Given the description of an element on the screen output the (x, y) to click on. 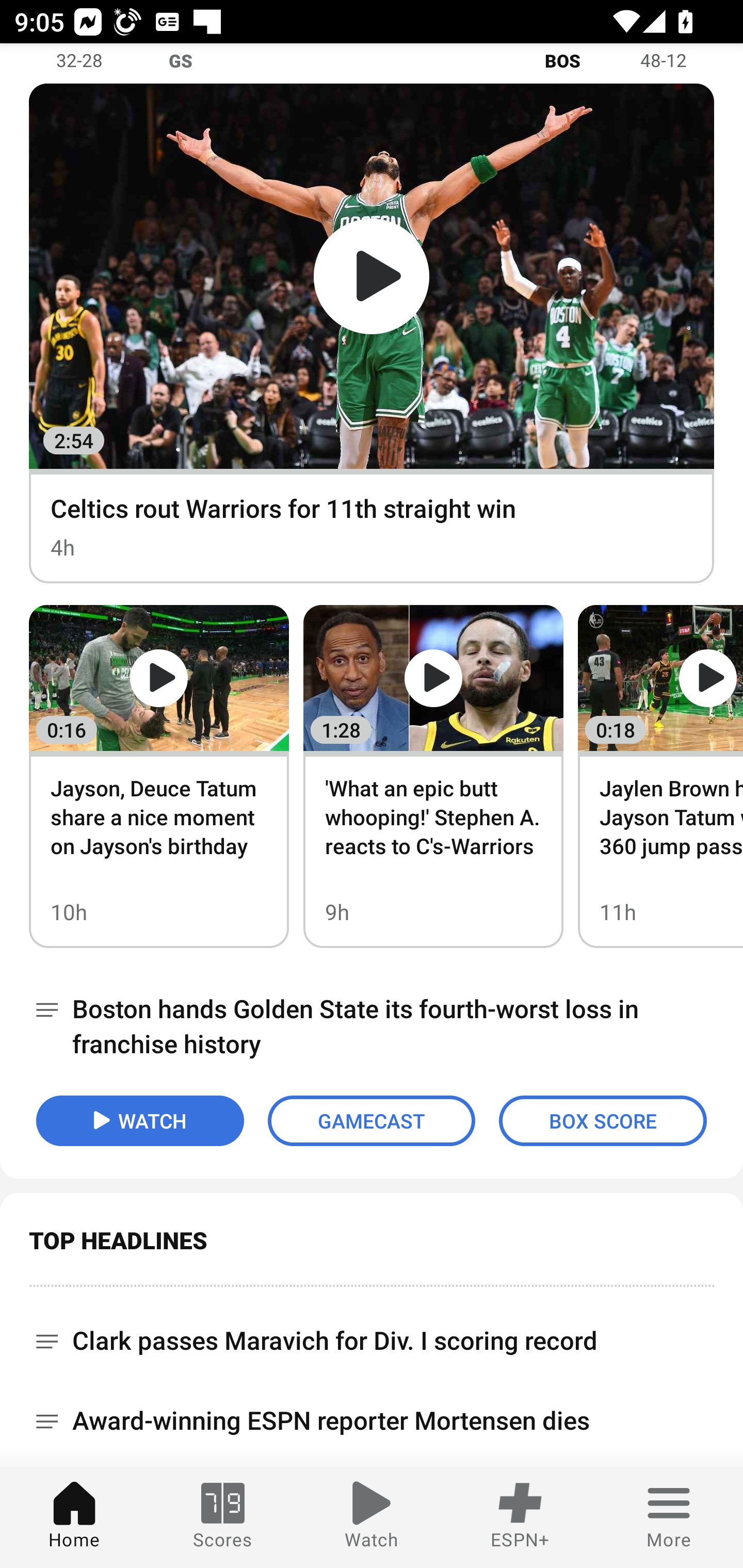
Content 32-28 GS Content BOS 48-12 (371, 63)
 WATCH (139, 1121)
GAMECAST (371, 1121)
BOX SCORE (602, 1121)
 Clark passes Maravich for Div. I scoring record (371, 1334)
 Award-winning ESPN reporter Mortensen dies (371, 1421)
Scores (222, 1517)
Watch (371, 1517)
ESPN+ (519, 1517)
More (668, 1517)
